Given the description of an element on the screen output the (x, y) to click on. 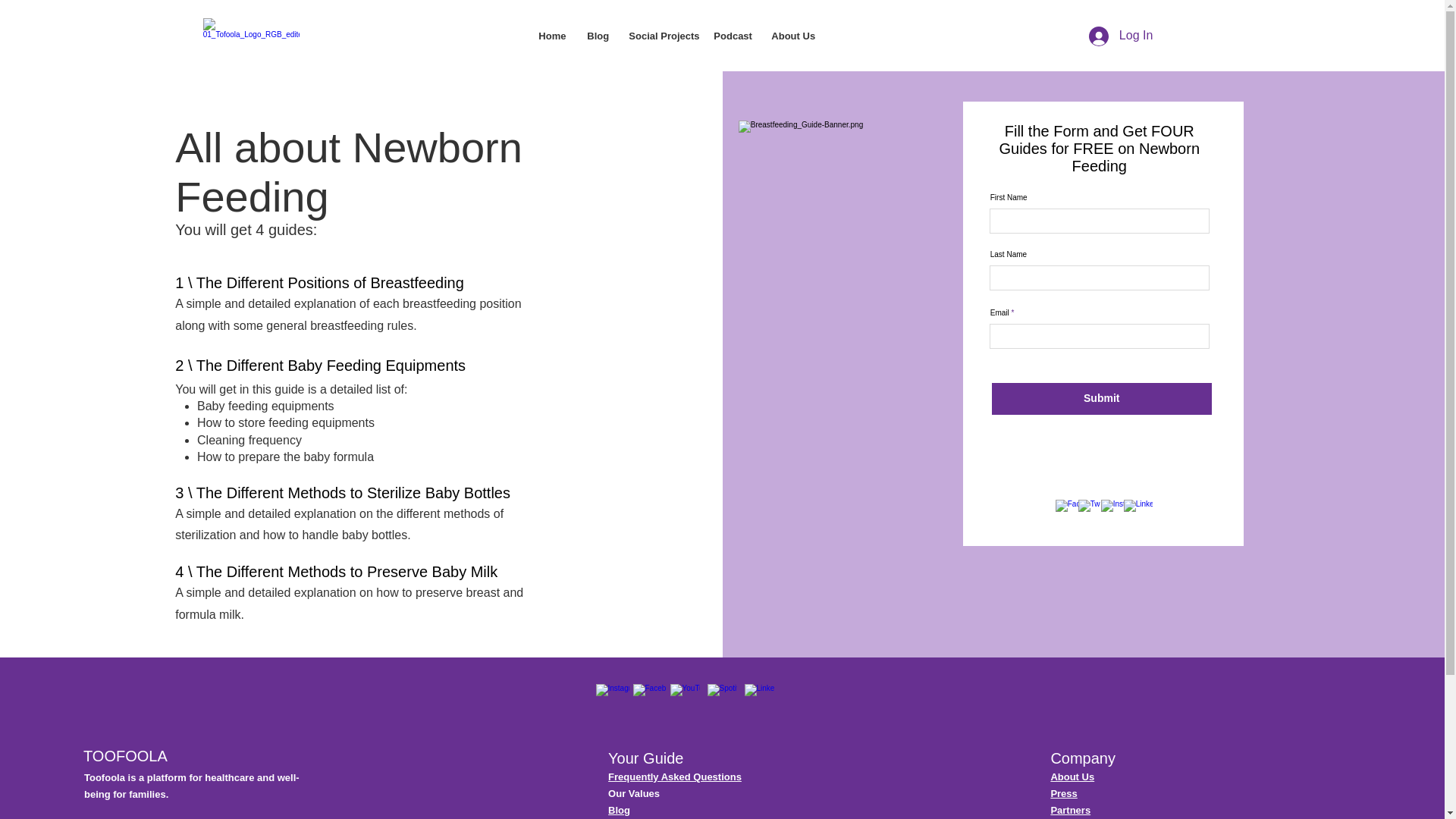
Podcast (730, 36)
About Us (1071, 776)
Home (551, 36)
Frequently Asked Questions (674, 776)
Press (1063, 793)
About Us (791, 36)
tooteen.png (251, 38)
Social Projects (659, 36)
Submit (1101, 398)
Blog (596, 36)
